Given the description of an element on the screen output the (x, y) to click on. 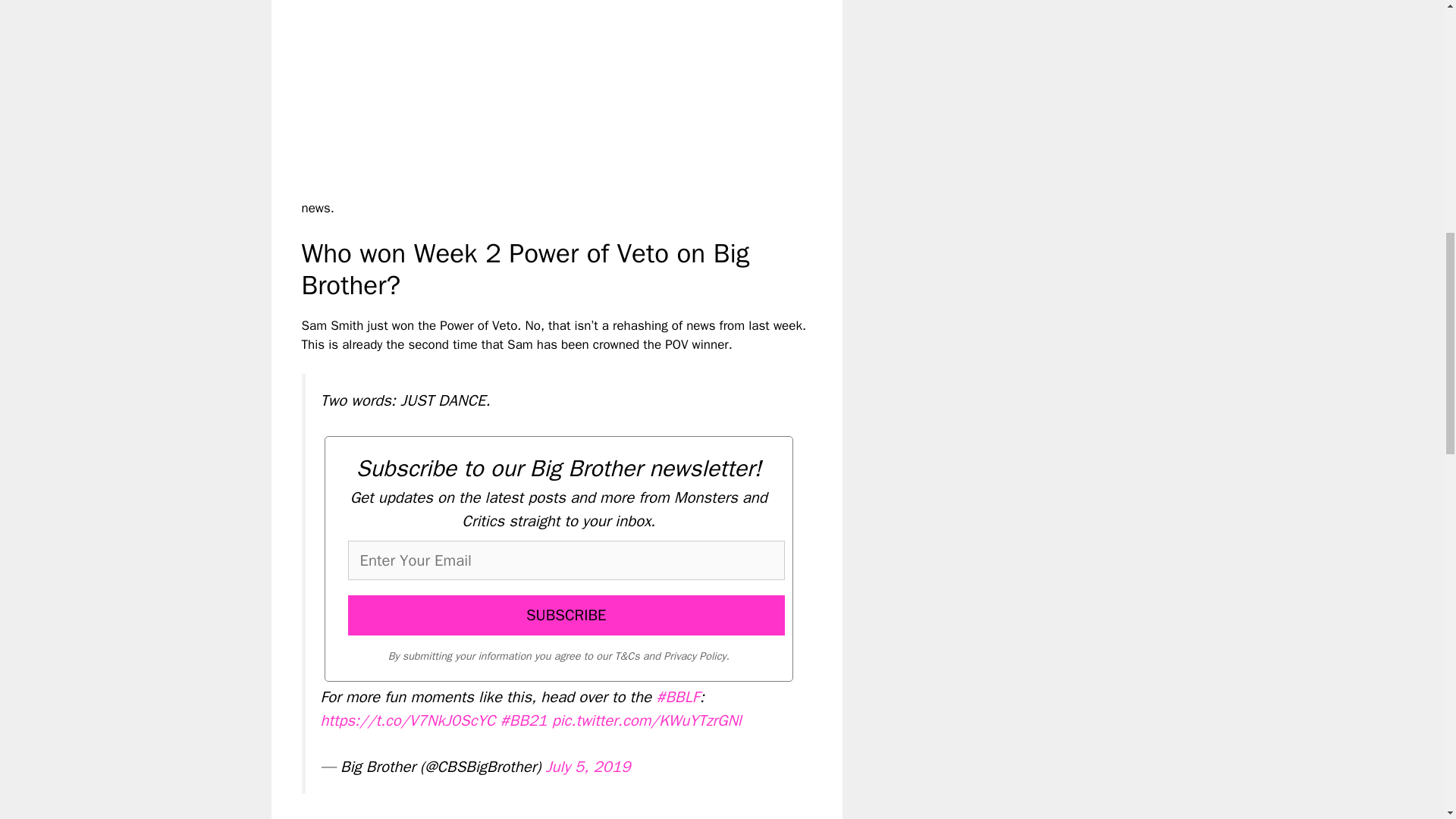
SUBSCRIBE (565, 615)
YouTube video player (546, 106)
July 5, 2019 (587, 766)
SUBSCRIBE (565, 615)
